Given the description of an element on the screen output the (x, y) to click on. 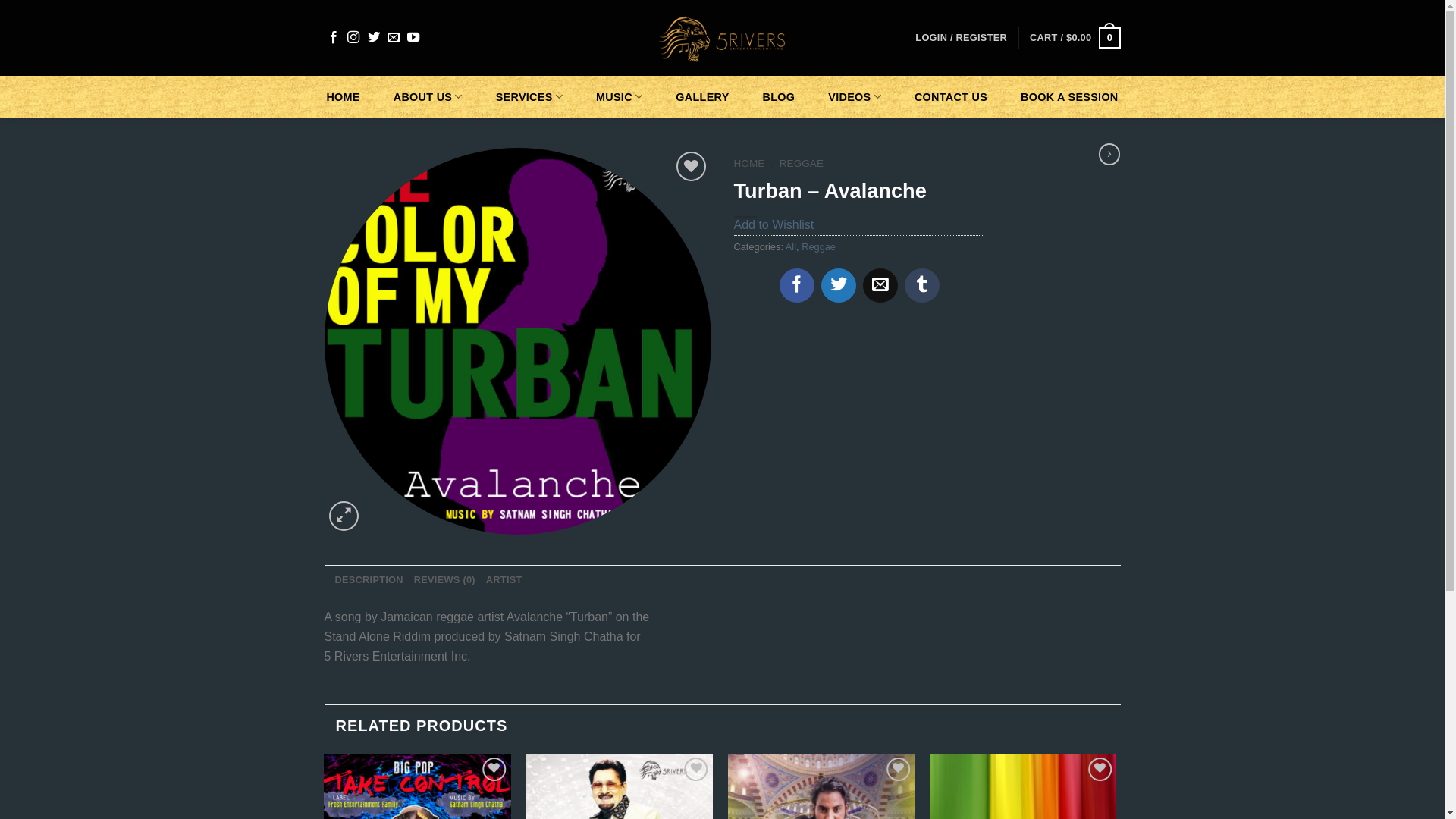
BLOG Element type: text (778, 96)
Skip to content Element type: text (0, 0)
ABOUT US Element type: text (427, 96)
REVIEWS (0) Element type: text (444, 579)
HOME Element type: text (342, 96)
MUSIC Element type: text (619, 96)
CONTACT US Element type: text (950, 96)
DESCRIPTION Element type: text (369, 579)
5 Rivers - Entertainment INC Element type: hover (721, 37)
VIDEOS Element type: text (854, 96)
CART / $0.00
0 Element type: text (1074, 37)
All Element type: text (790, 246)
REGGAE Element type: text (801, 163)
Reggae Element type: text (818, 246)
HOME Element type: text (749, 163)
ARTIST Element type: text (504, 579)
GALLERY Element type: text (701, 96)
BOOK A SESSION Element type: text (1069, 96)
LOGIN / REGISTER Element type: text (961, 37)
SERVICES Element type: text (528, 96)
The Color of my Turban3 Element type: hover (517, 340)
Add to Wishlist Element type: text (774, 224)
